Given the description of an element on the screen output the (x, y) to click on. 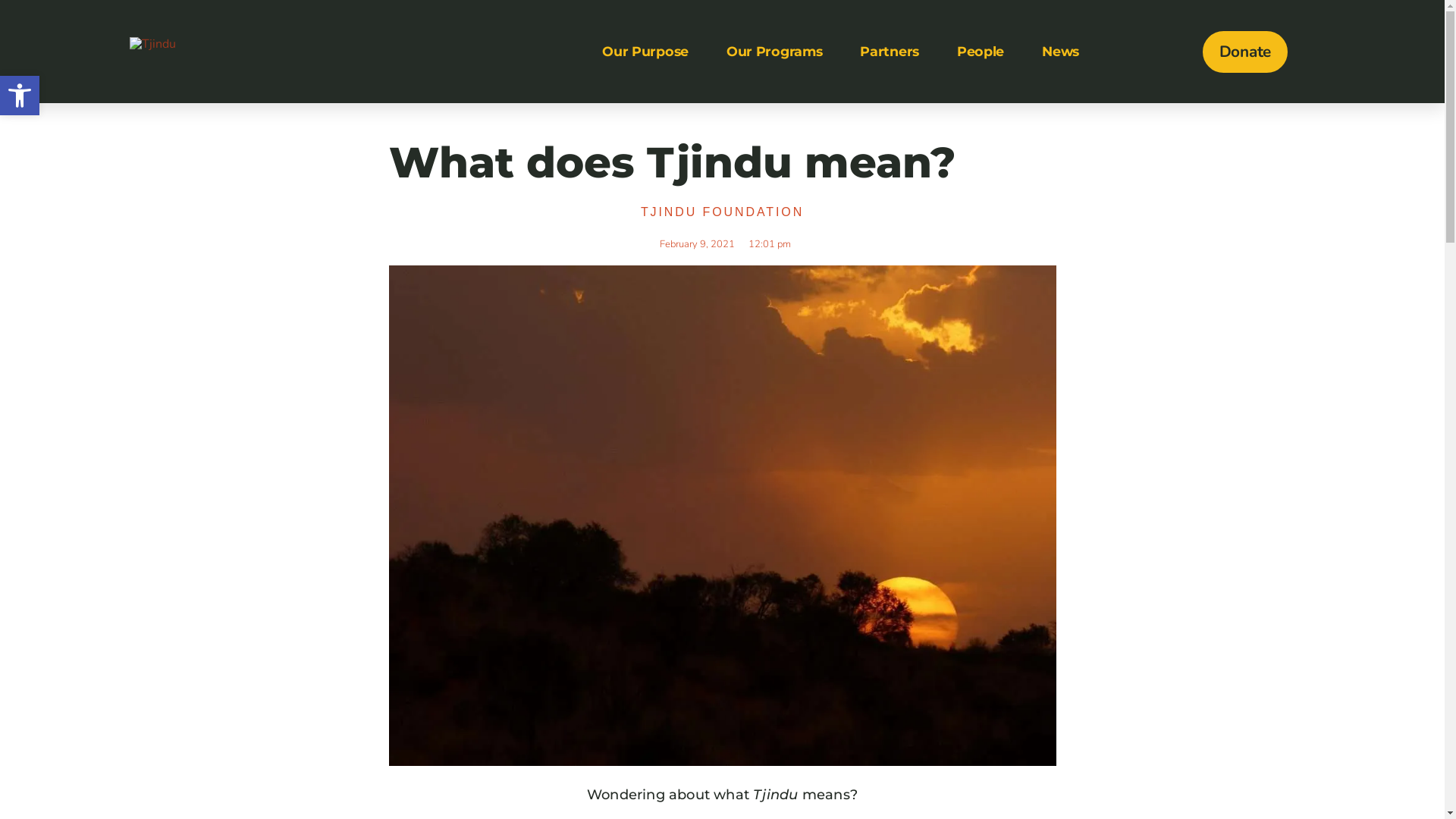
Open toolbar
Accessibility Tools Element type: text (19, 95)
Donate Element type: text (1244, 51)
Partners Element type: text (889, 51)
Tjindu_logo-horizontal_reverse_RGB-300 Element type: hover (152, 43)
News Element type: text (1060, 51)
Our Purpose Element type: text (645, 51)
Our Programs Element type: text (774, 51)
People Element type: text (980, 51)
